Given the description of an element on the screen output the (x, y) to click on. 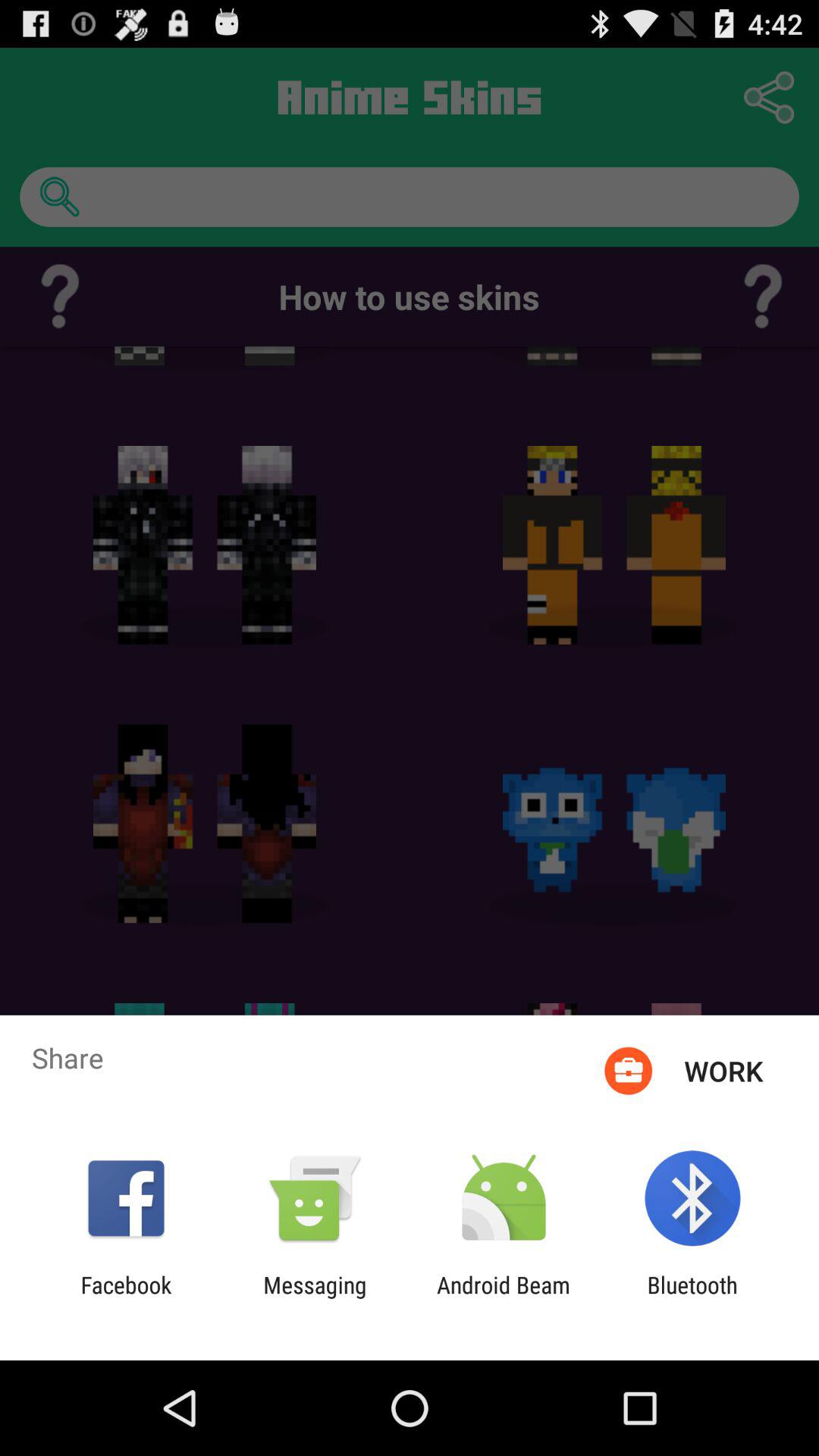
turn off the app next to bluetooth (503, 1298)
